Given the description of an element on the screen output the (x, y) to click on. 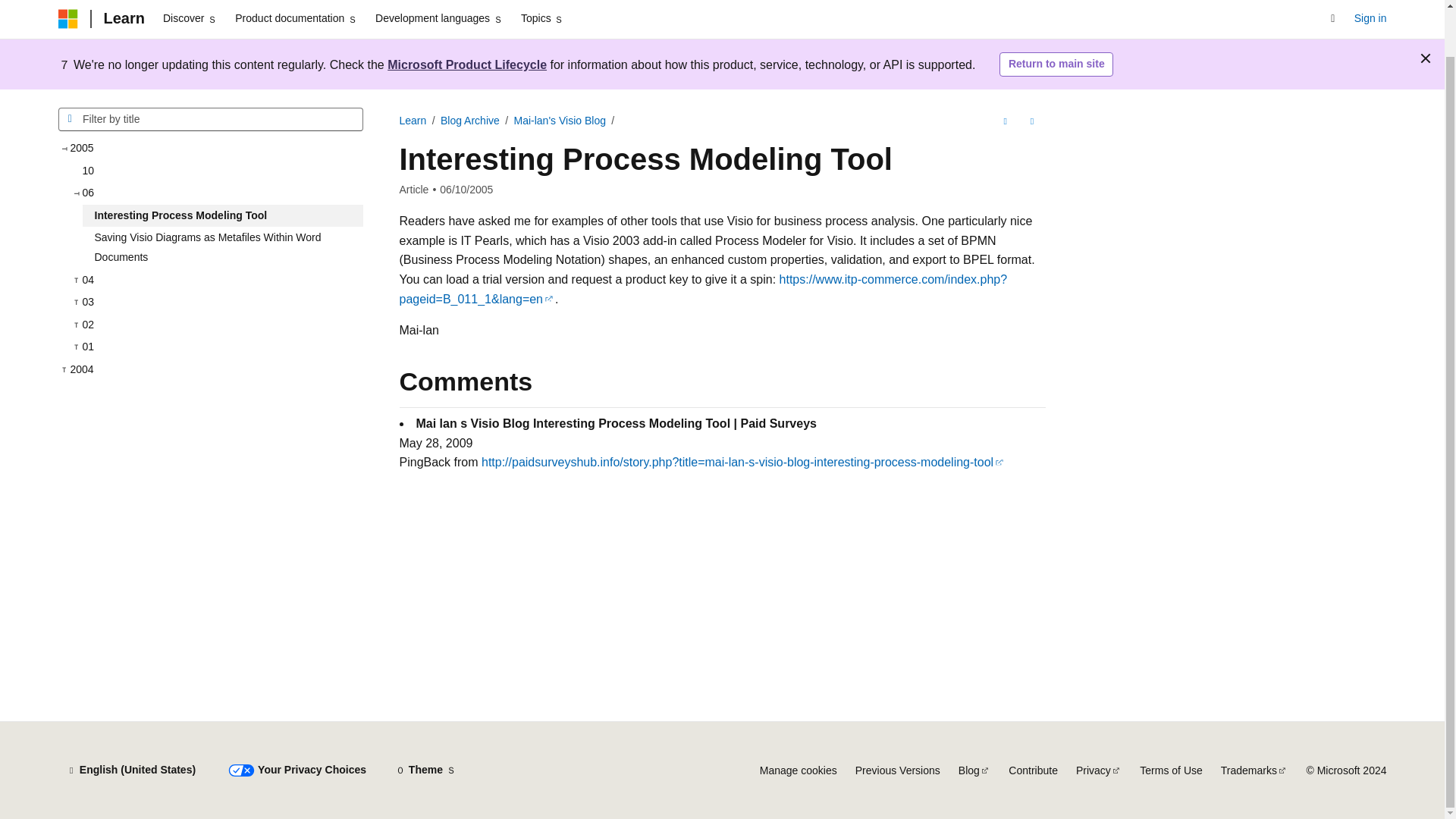
Product documentation (295, 19)
Microsoft Product Lifecycle (467, 64)
More actions (1031, 120)
10 (215, 170)
Dismiss alert (1425, 57)
Blog Archive (470, 120)
Return to main site (1055, 64)
Learn (412, 120)
Learn (123, 18)
Theme (425, 770)
